Given the description of an element on the screen output the (x, y) to click on. 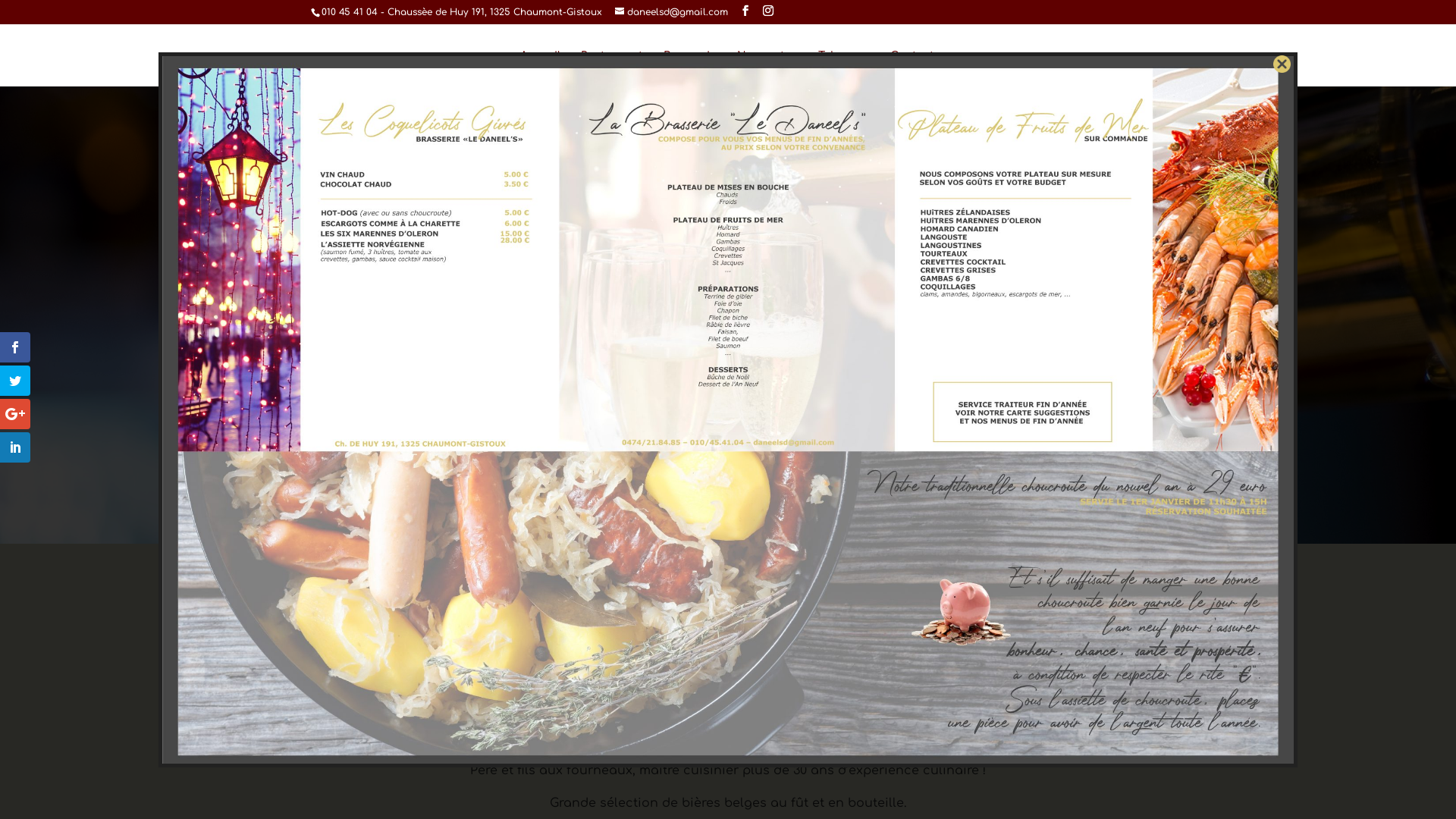
010 45 41 04 Element type: text (349, 11)
Restaurant Element type: text (611, 68)
Takeaway Element type: text (843, 68)
Nos cartes Element type: text (767, 68)
Takeaway Element type: text (727, 462)
Accueil Element type: text (540, 68)
daneelsd@gmail.com Element type: text (671, 11)
Brasserie Element type: text (689, 68)
Contact Element type: text (912, 68)
Fermer Element type: hover (1281, 63)
